Given the description of an element on the screen output the (x, y) to click on. 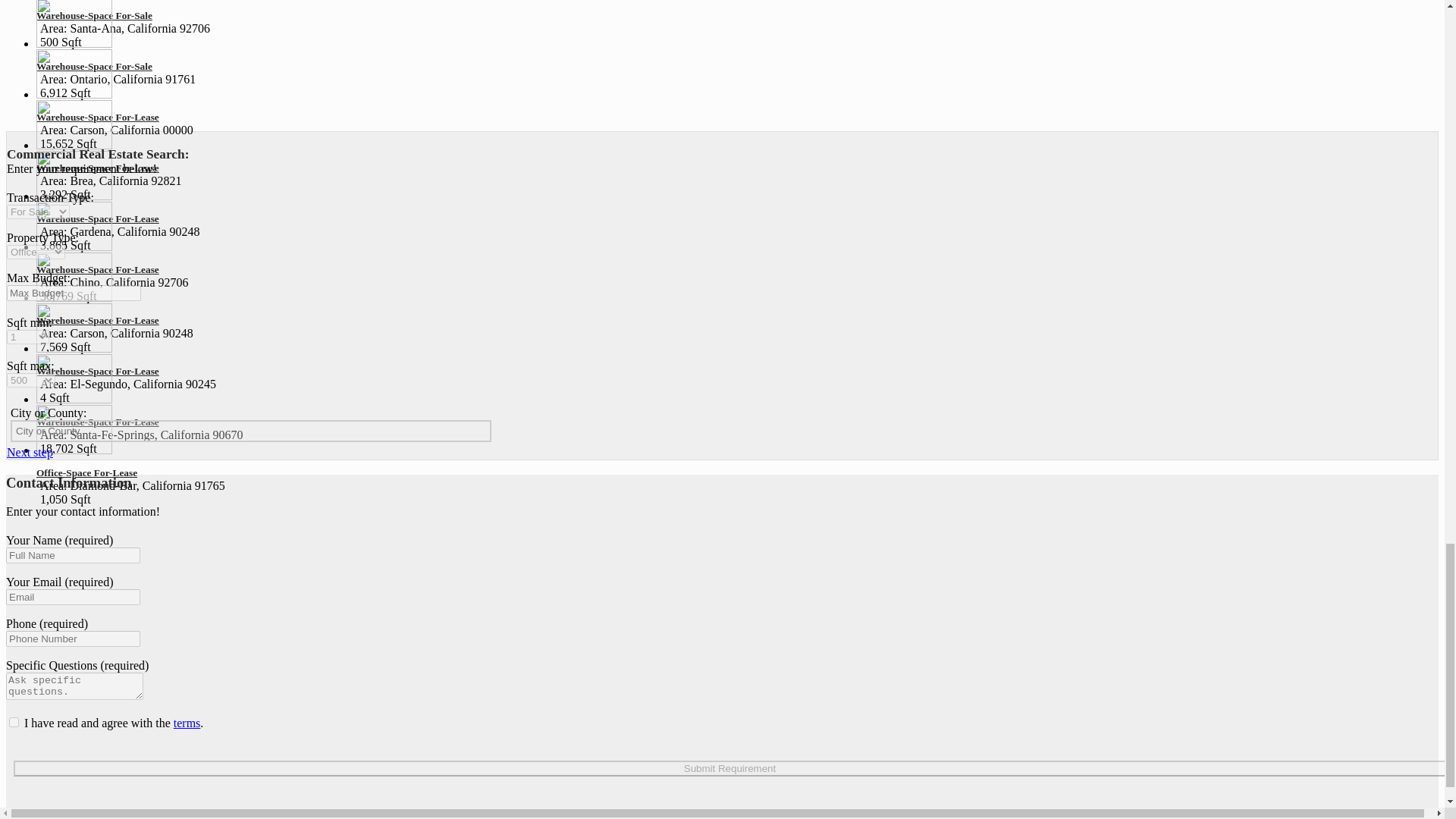
Warehouse-Space For-Lease (97, 116)
Warehouse-Space For-Sale (94, 15)
Warehouse-Space For-Sale (94, 66)
on (13, 722)
